Given the description of an element on the screen output the (x, y) to click on. 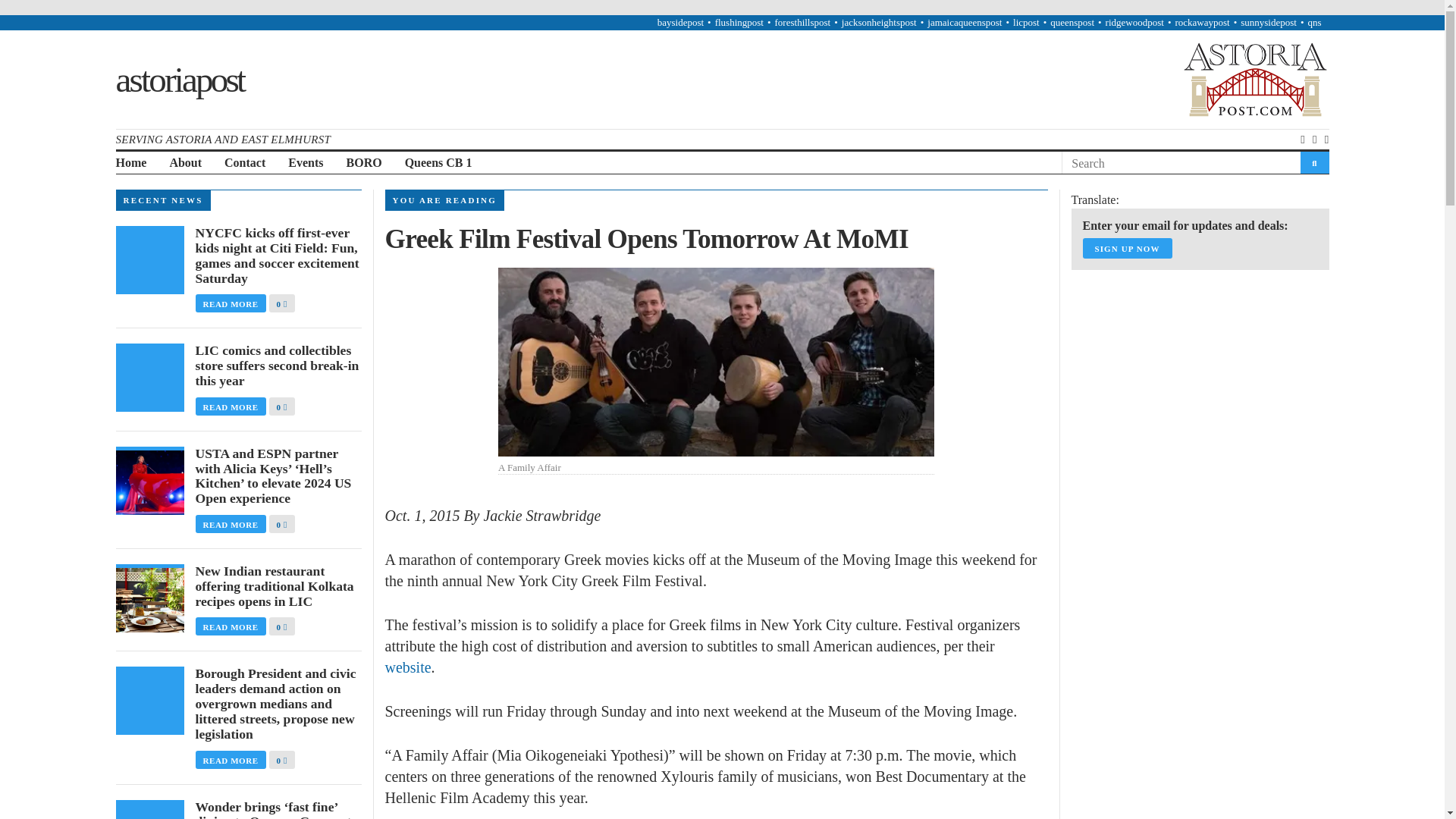
website (407, 667)
Events (305, 163)
jacksonheightspost (879, 21)
Queens CB 1 (437, 163)
Home (131, 163)
Contact (244, 163)
flushingpost (738, 21)
licpost (1026, 21)
queenspost (1071, 21)
sunnysidepost (1268, 21)
